Given the description of an element on the screen output the (x, y) to click on. 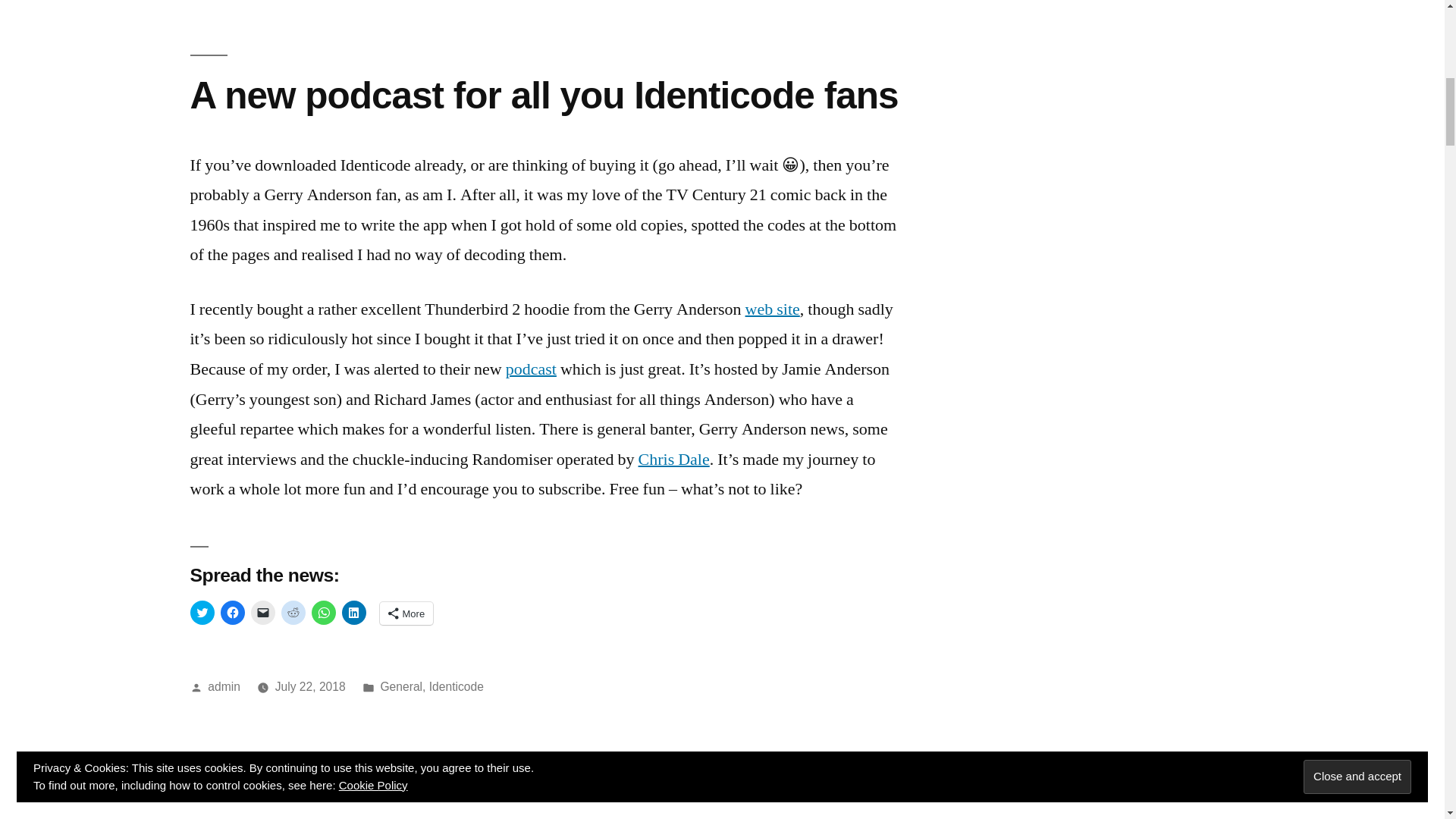
Click to email a link to a friend (262, 612)
More (405, 612)
Click to share on Facebook (231, 612)
Click to share on Twitter (201, 612)
Click to share on LinkedIn (352, 612)
Click to share on Reddit (292, 612)
Chris Dale (674, 459)
admin (224, 686)
A new podcast for all you Identicode fans (543, 95)
web site (772, 309)
